Given the description of an element on the screen output the (x, y) to click on. 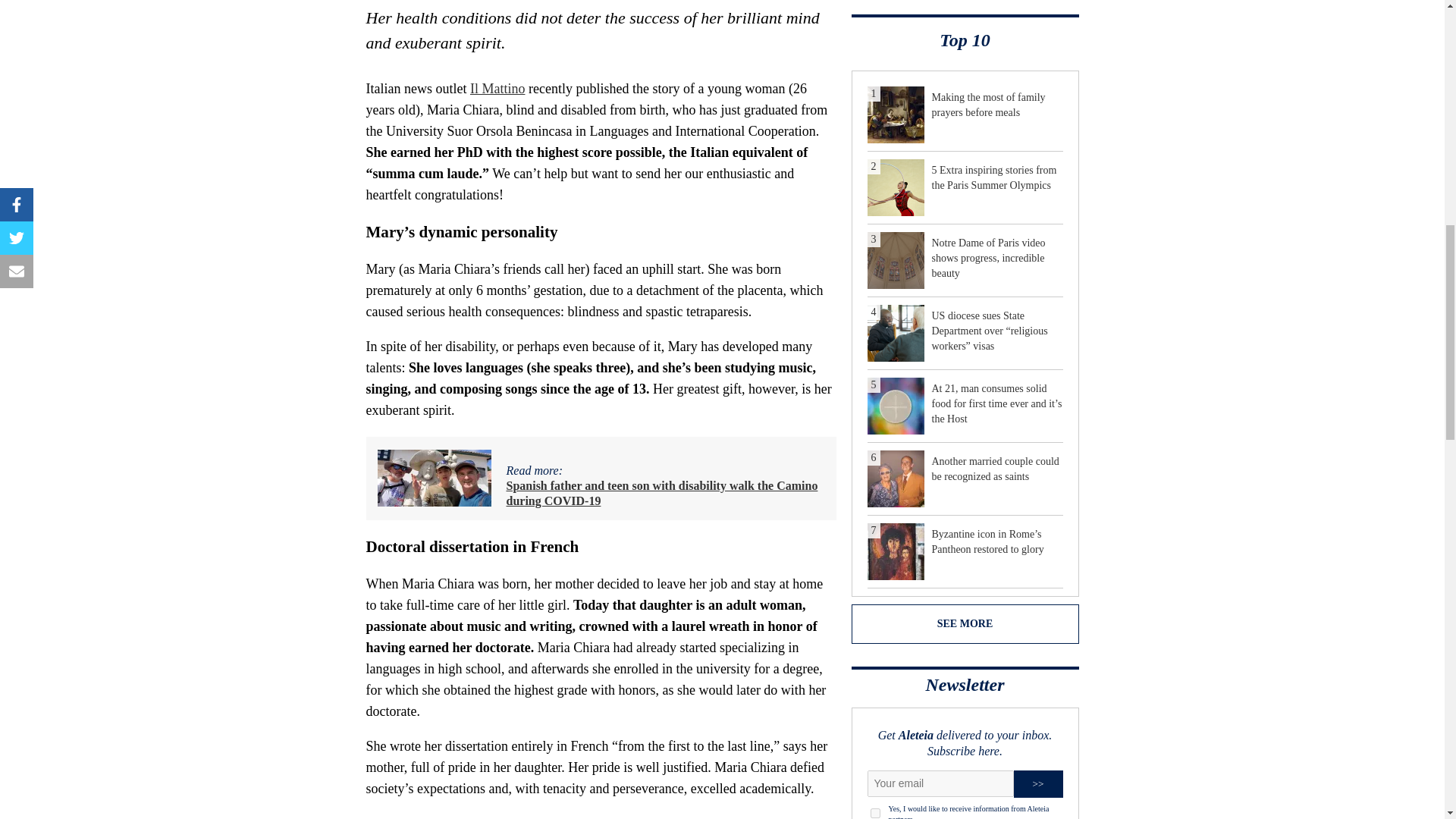
1 (875, 813)
Il Mattino (497, 88)
